Given the description of an element on the screen output the (x, y) to click on. 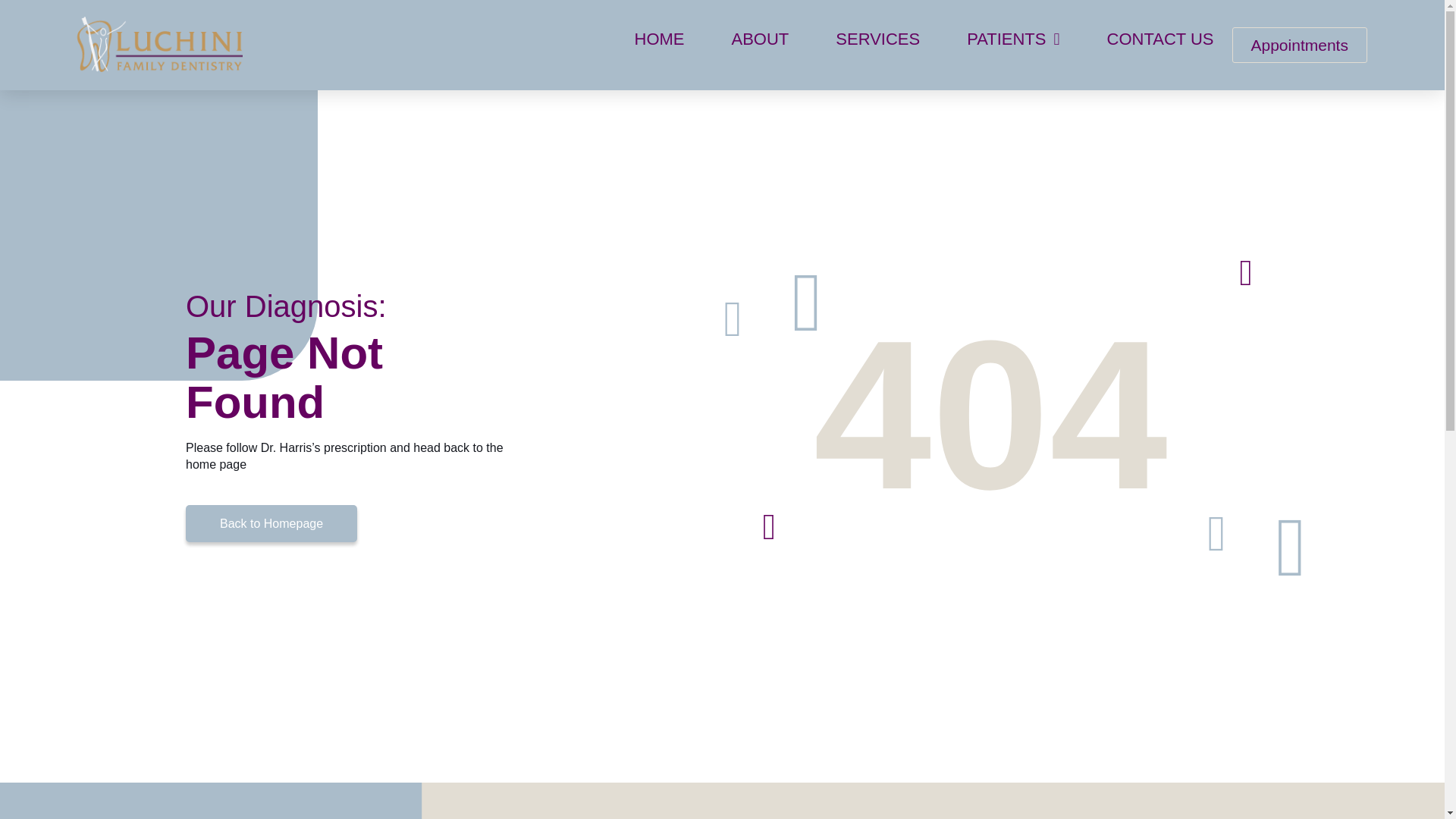
PATIENTS (1012, 39)
SERVICES (877, 39)
ABOUT (759, 39)
CONTACT US (1160, 39)
HOME (658, 39)
Appointments (1299, 45)
Back to Homepage (271, 523)
